Given the description of an element on the screen output the (x, y) to click on. 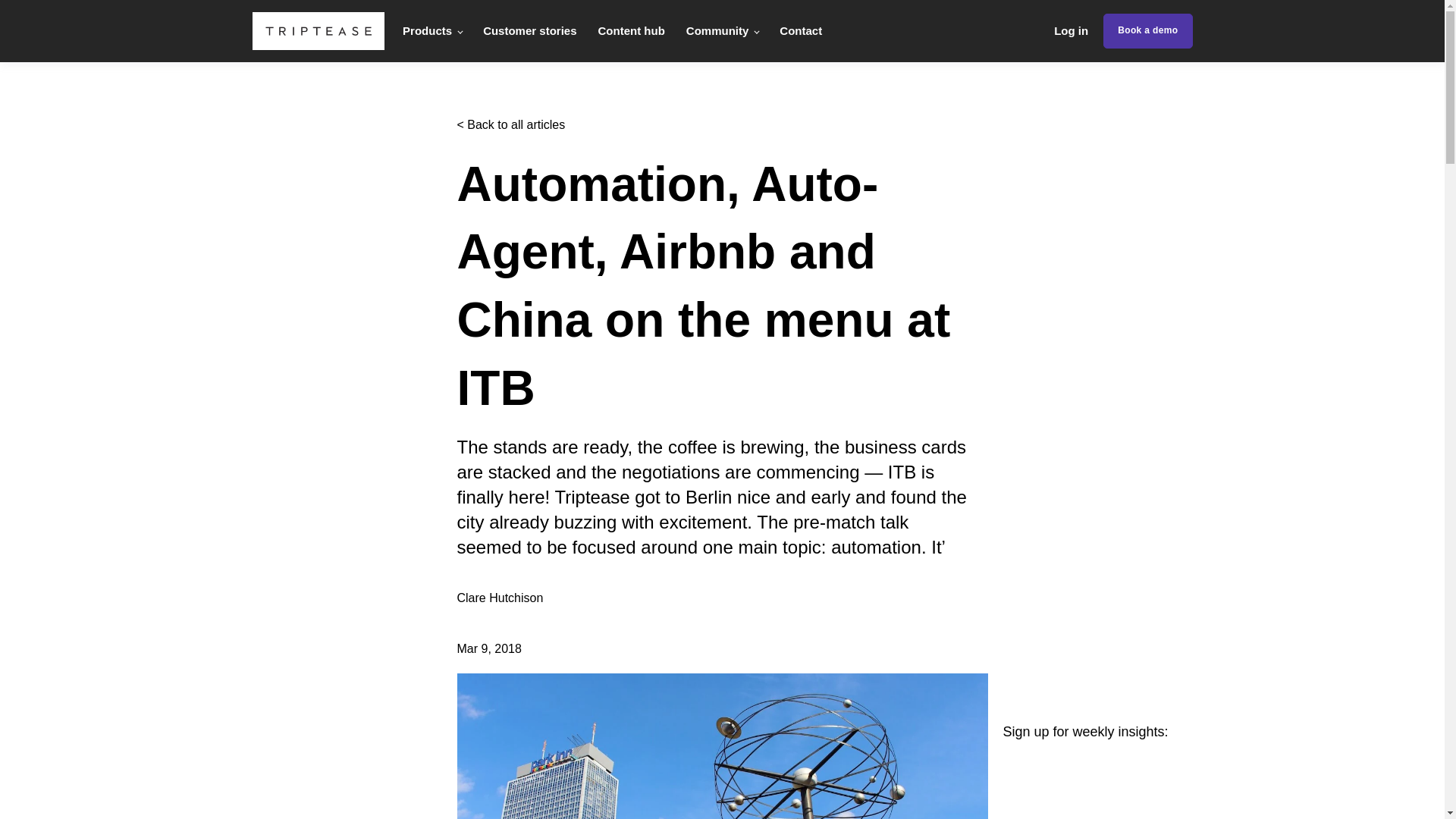
Clare Hutchison (500, 597)
Log in (1070, 30)
Customer stories (529, 30)
Contact (800, 30)
Products (432, 30)
Book a demo (1147, 30)
Community (721, 30)
Content hub (629, 30)
